Given the description of an element on the screen output the (x, y) to click on. 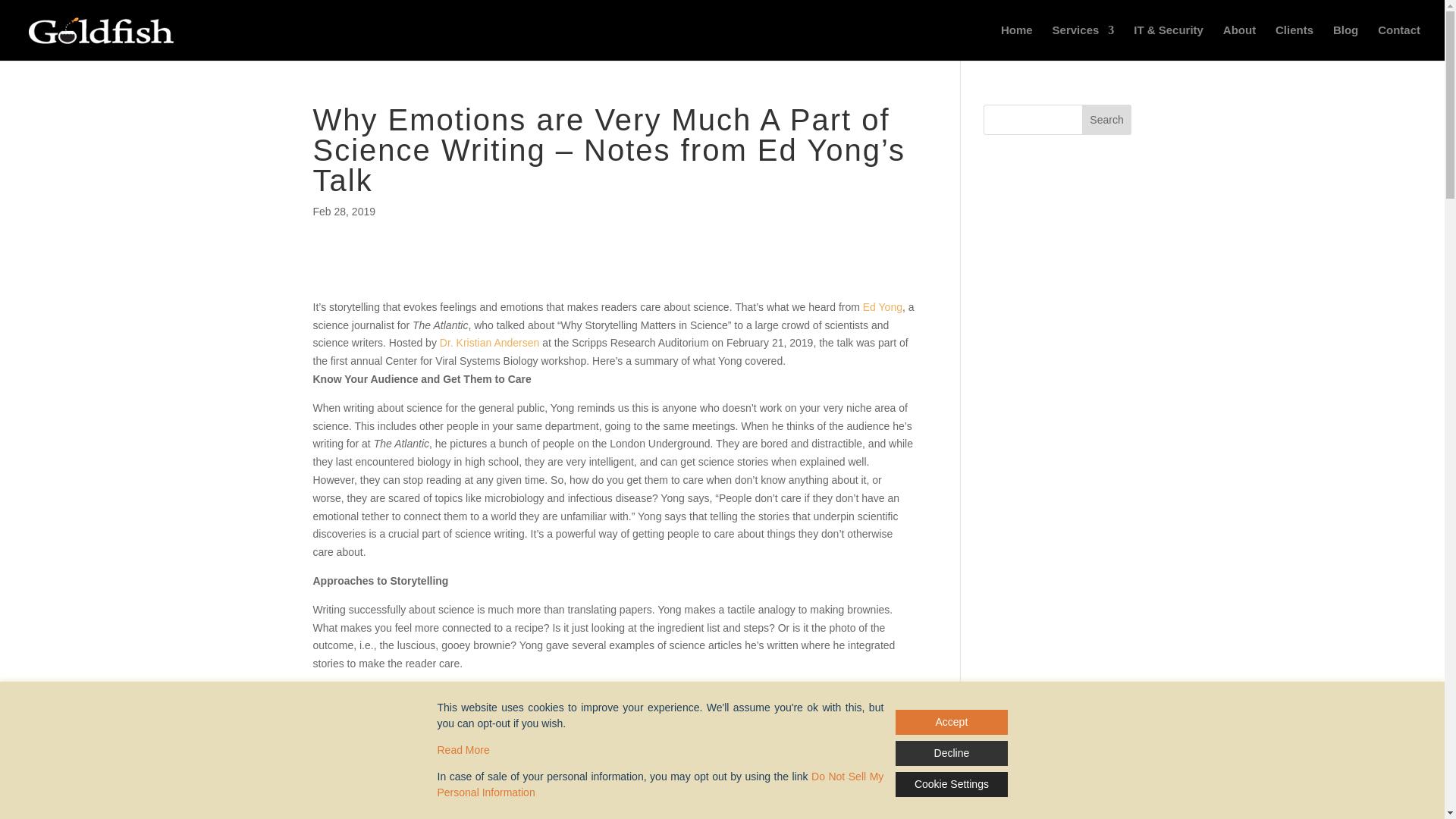
Clients (1294, 42)
Home (1016, 42)
The Wild Experiment That Showed Evolution in Real Time (540, 739)
Dr. Kristian Andersen  (490, 342)
Contact (1399, 42)
Ed Yong (882, 306)
Services (1083, 42)
About (1239, 42)
Search (1106, 119)
